Given the description of an element on the screen output the (x, y) to click on. 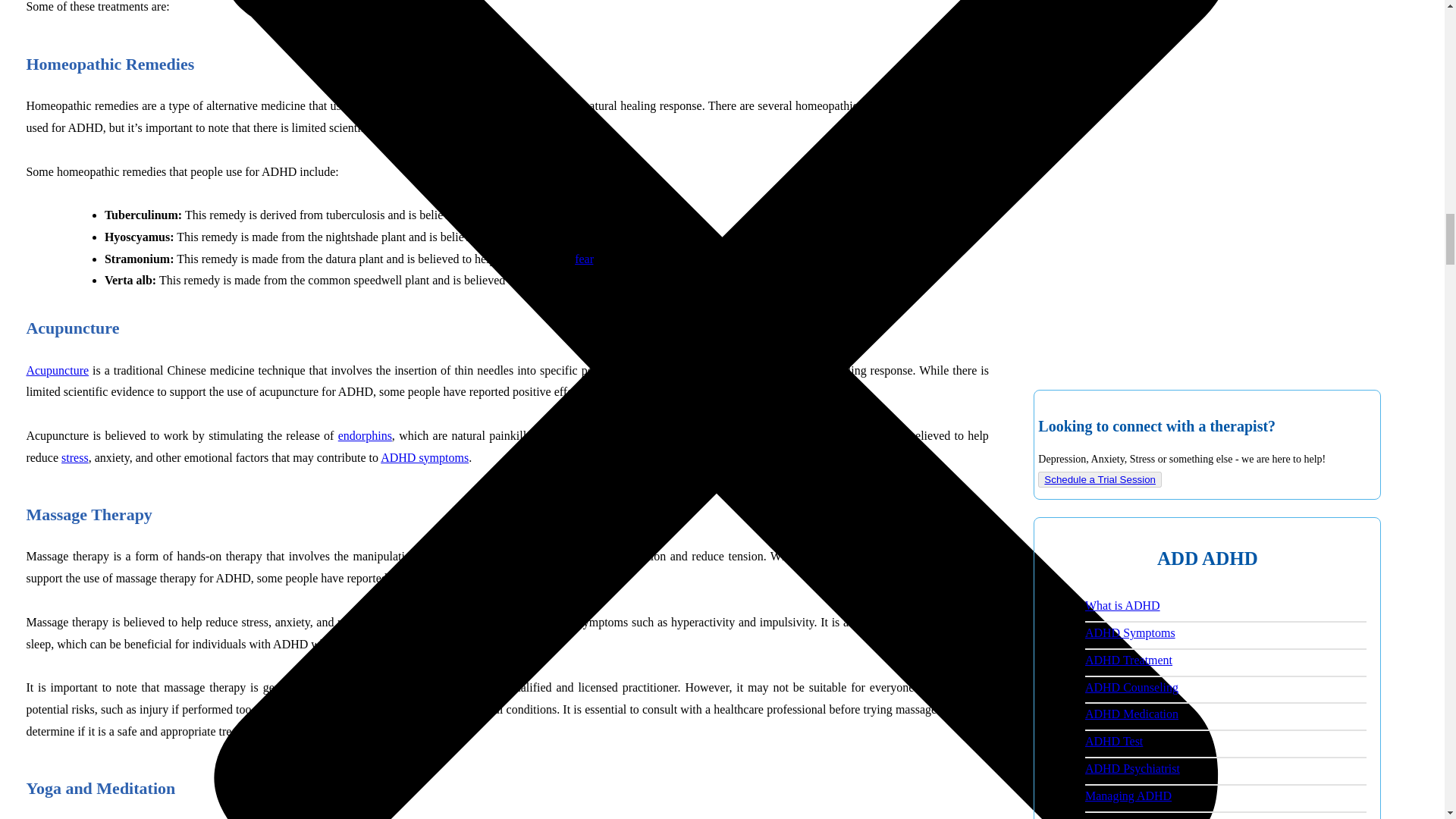
adhd symptoms (424, 457)
stress (74, 457)
endorphins (364, 435)
acupuncture (57, 369)
fear (583, 258)
